Given the description of an element on the screen output the (x, y) to click on. 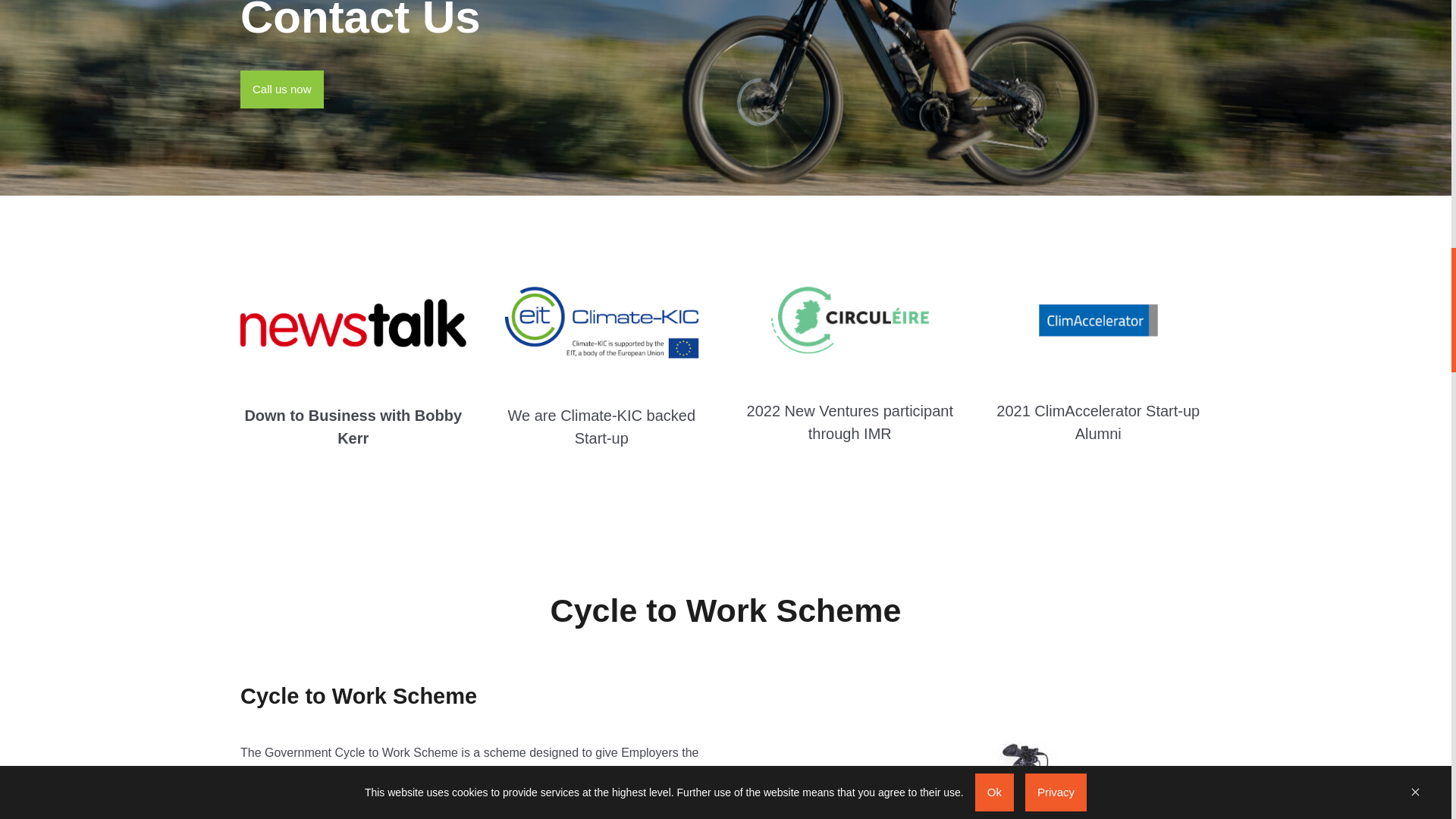
Down to Business with Bobby Kerr (352, 425)
Call us now (281, 89)
